Given the description of an element on the screen output the (x, y) to click on. 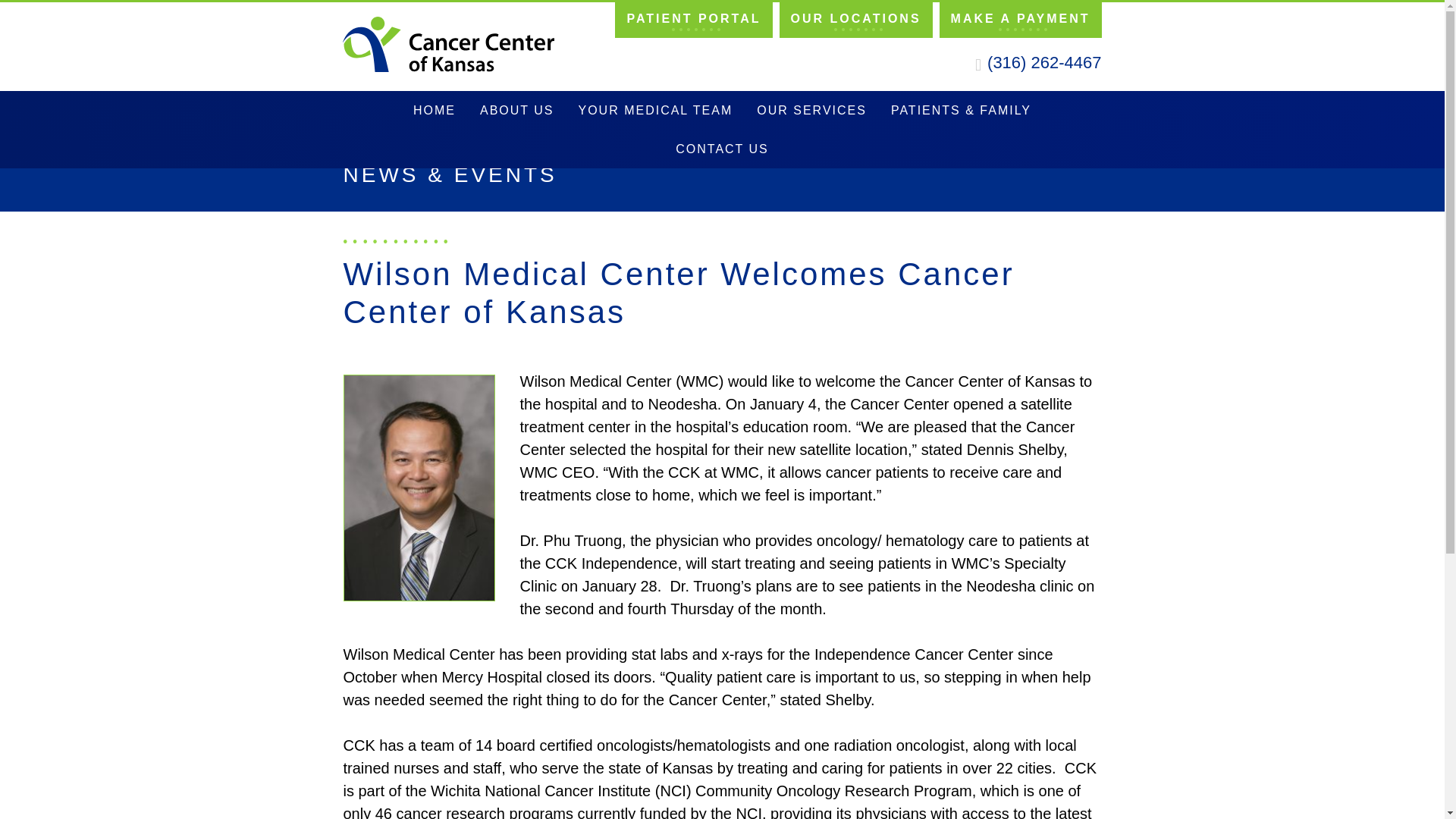
HOME (434, 109)
OUR SERVICES (811, 109)
YOUR MEDICAL TEAM (655, 109)
OUR LOCATIONS (855, 18)
PATIENT PORTAL (692, 18)
MAKE A PAYMENT (1020, 18)
ABOUT US (516, 109)
